Given the description of an element on the screen output the (x, y) to click on. 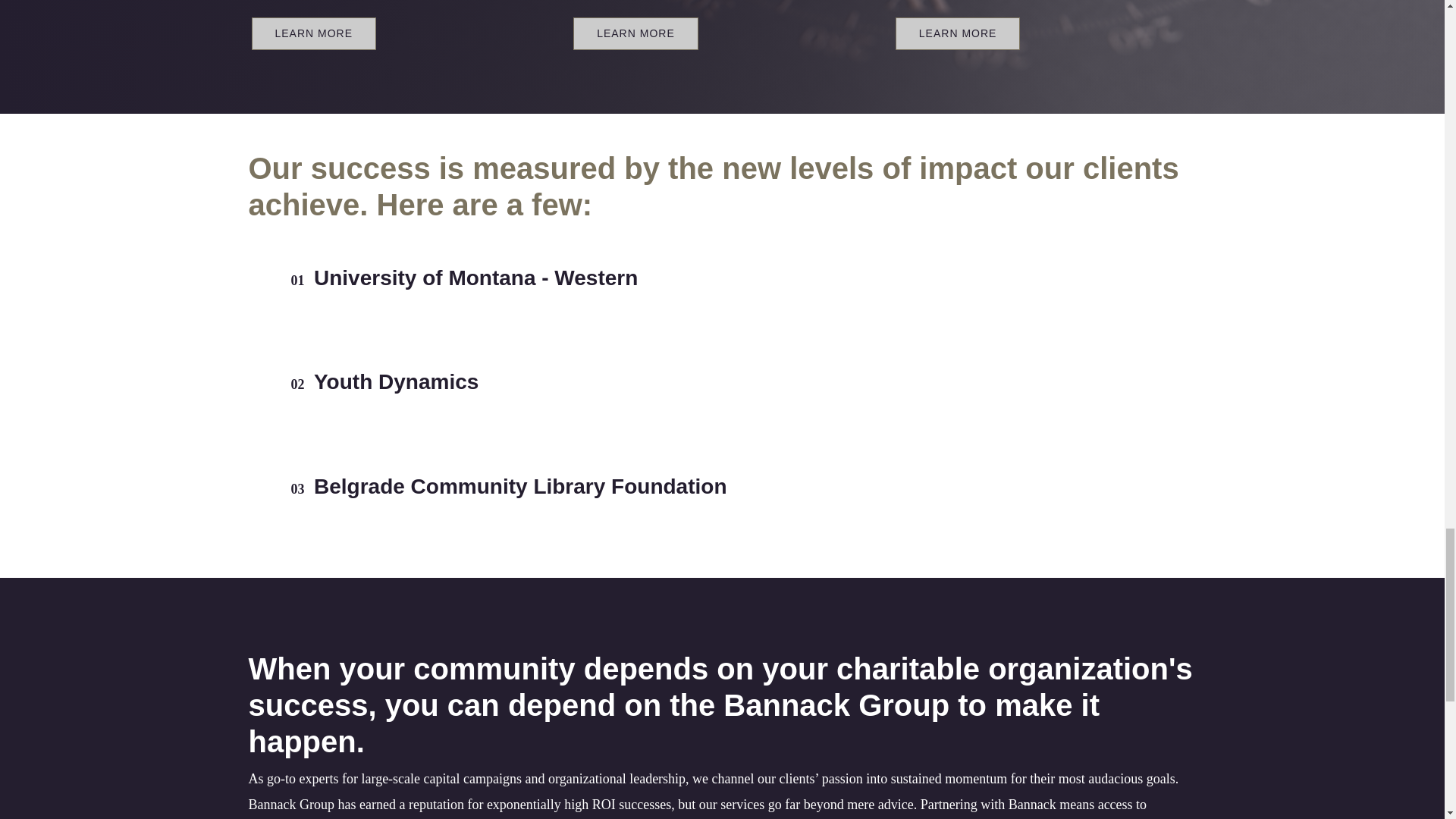
01 University of Montana - Western (722, 278)
LEARN MORE (957, 33)
LEARN MORE (314, 33)
LEARN MORE (635, 33)
02 Youth Dynamics (722, 381)
03 Belgrade Community Library Foundation (722, 486)
